Given the description of an element on the screen output the (x, y) to click on. 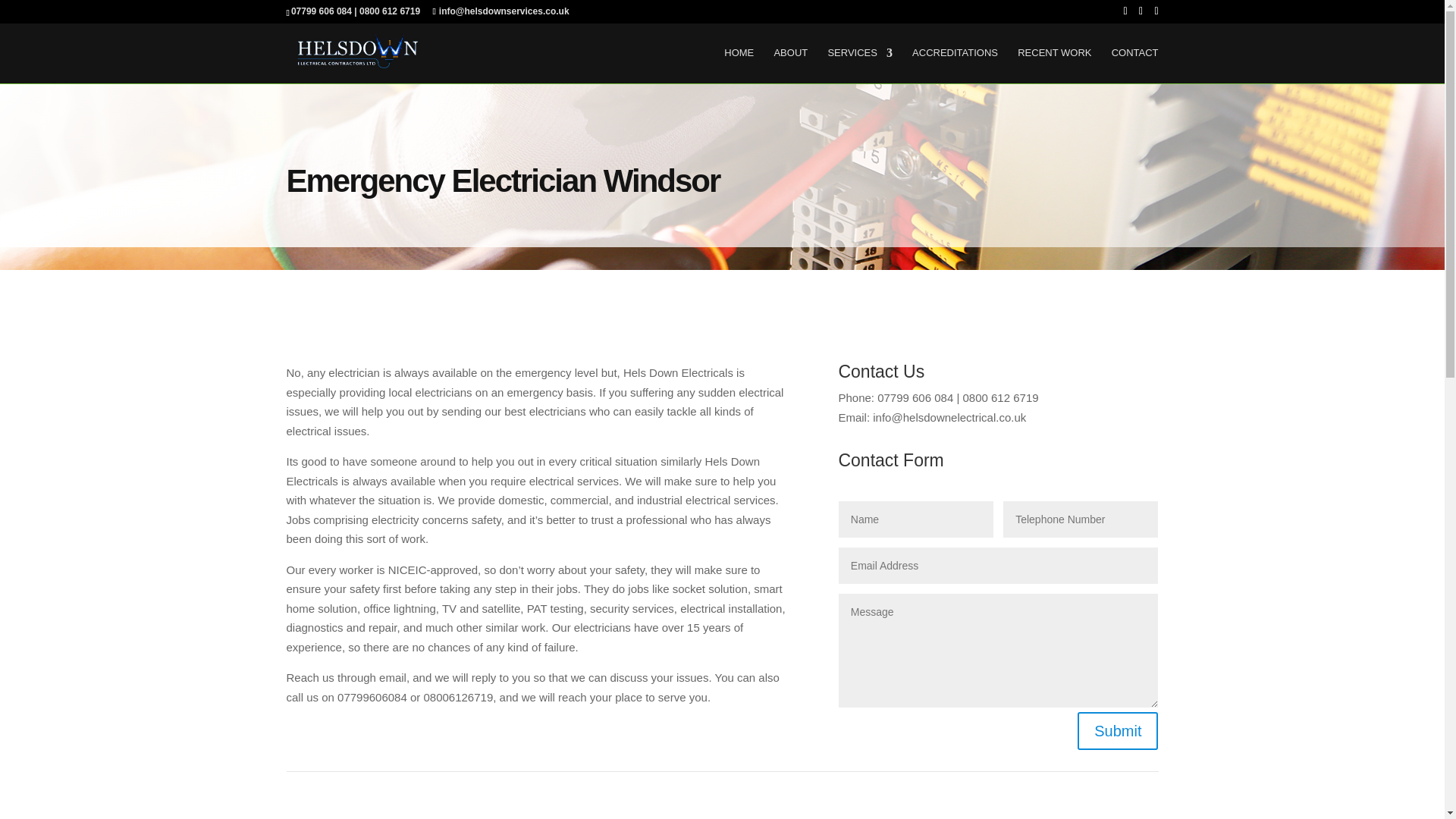
ACCREDITATIONS (954, 65)
ABOUT (790, 65)
Submit (1117, 730)
CONTACT (1135, 65)
SERVICES (859, 65)
RECENT WORK (1053, 65)
